Given the description of an element on the screen output the (x, y) to click on. 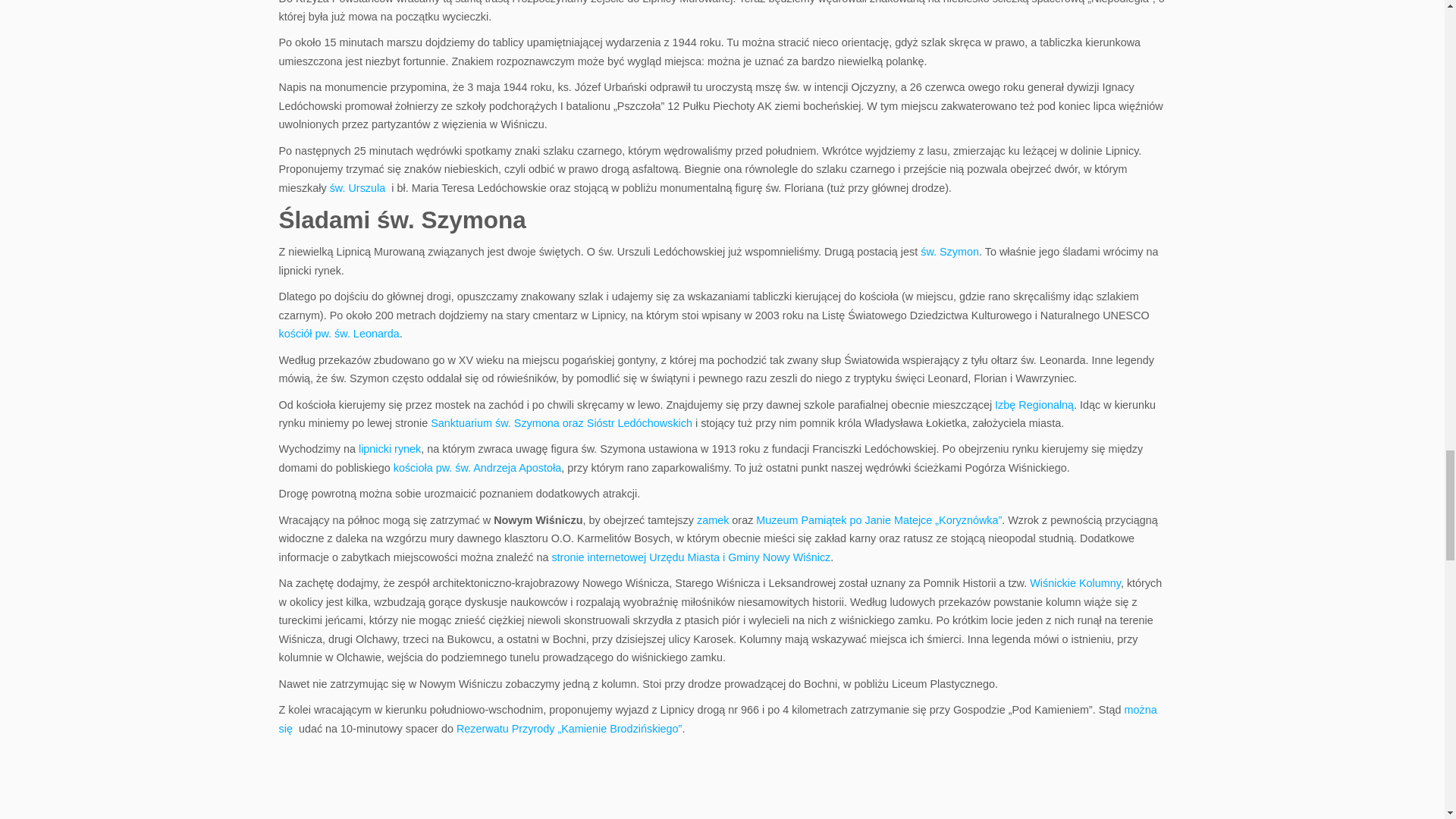
Izba Regionalna Lipnica Murowana opis (1034, 404)
Zabudowa Lipnicy Murowanej opis (389, 449)
